Given the description of an element on the screen output the (x, y) to click on. 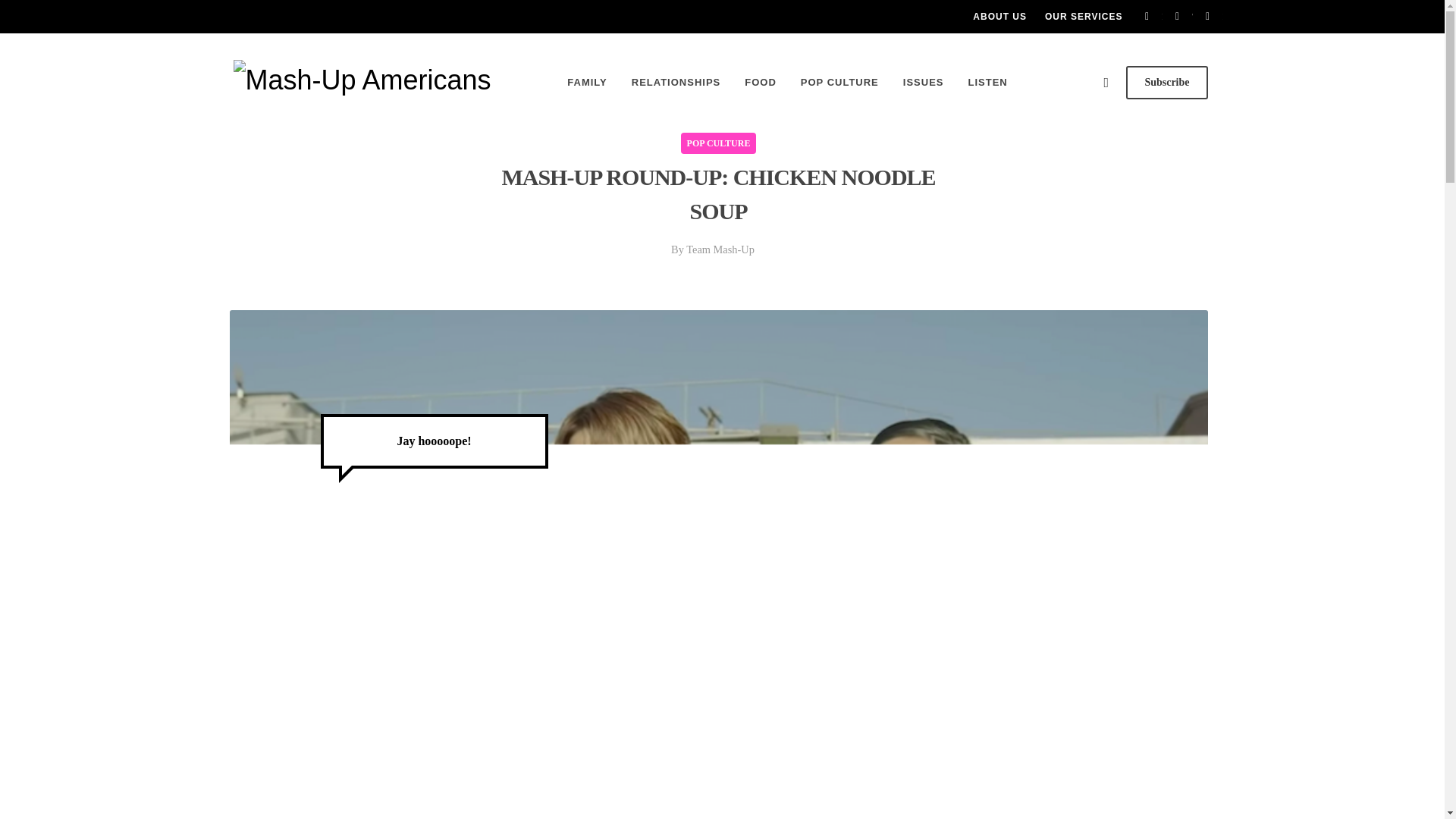
ABOUT US (999, 16)
Subscribe (1166, 82)
POP CULTURE (719, 141)
OUR SERVICES (1083, 16)
POP CULTURE (839, 82)
RELATIONSHIPS (676, 82)
Team Mash-Up (719, 249)
